Given the description of an element on the screen output the (x, y) to click on. 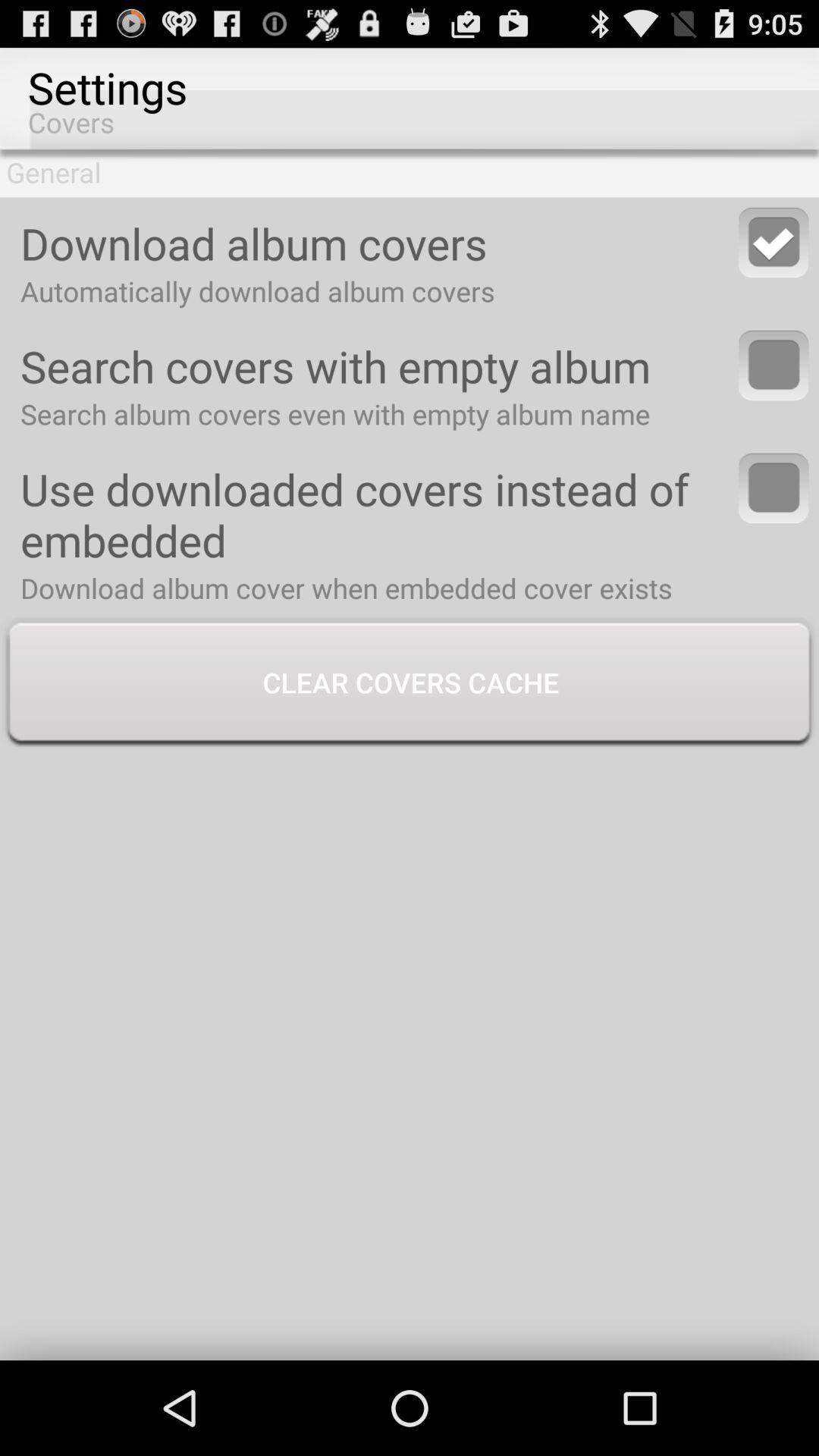
check to search covers with empty album (773, 365)
